Given the description of an element on the screen output the (x, y) to click on. 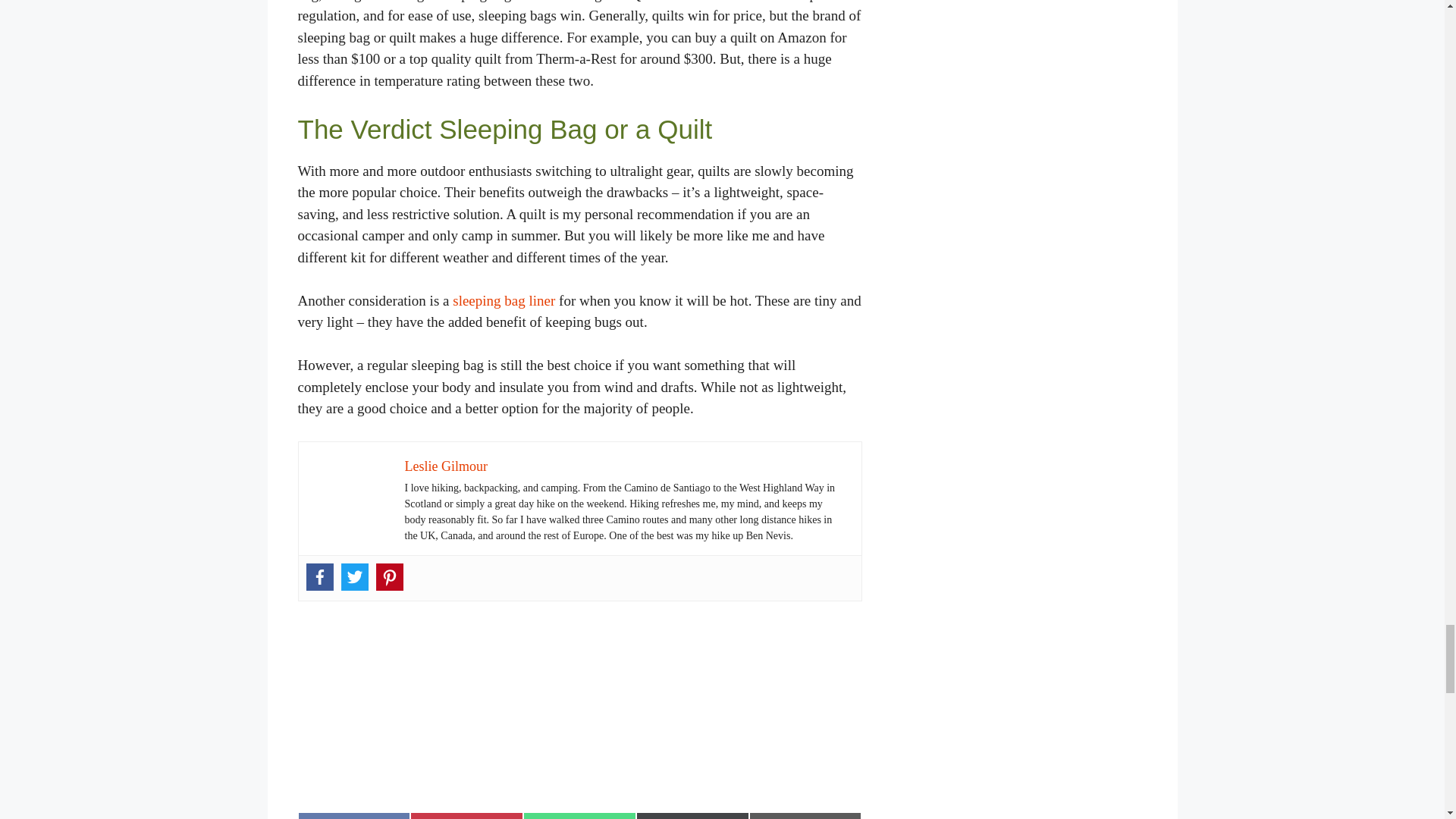
Pinterest (389, 576)
Twitter (354, 576)
Facebook (319, 576)
